Given the description of an element on the screen output the (x, y) to click on. 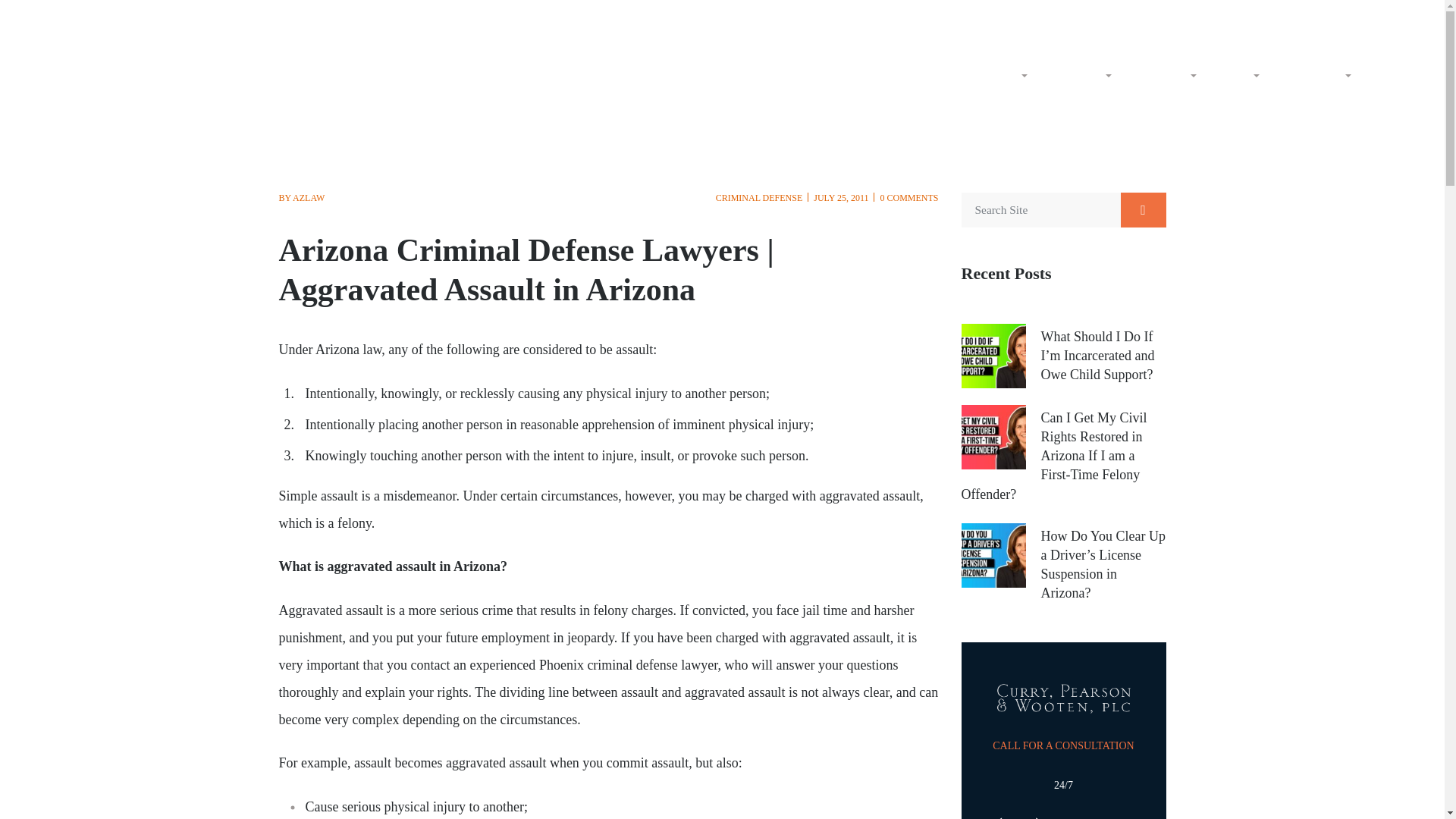
Accident (1166, 74)
Criminal (1082, 74)
Resources (1317, 74)
Blog Masonry With Right Sidebar (1317, 74)
Watch Our Videos on YouTube (1031, 17)
Accident and Injury (1166, 74)
Criminal Defense (1082, 74)
